Given the description of an element on the screen output the (x, y) to click on. 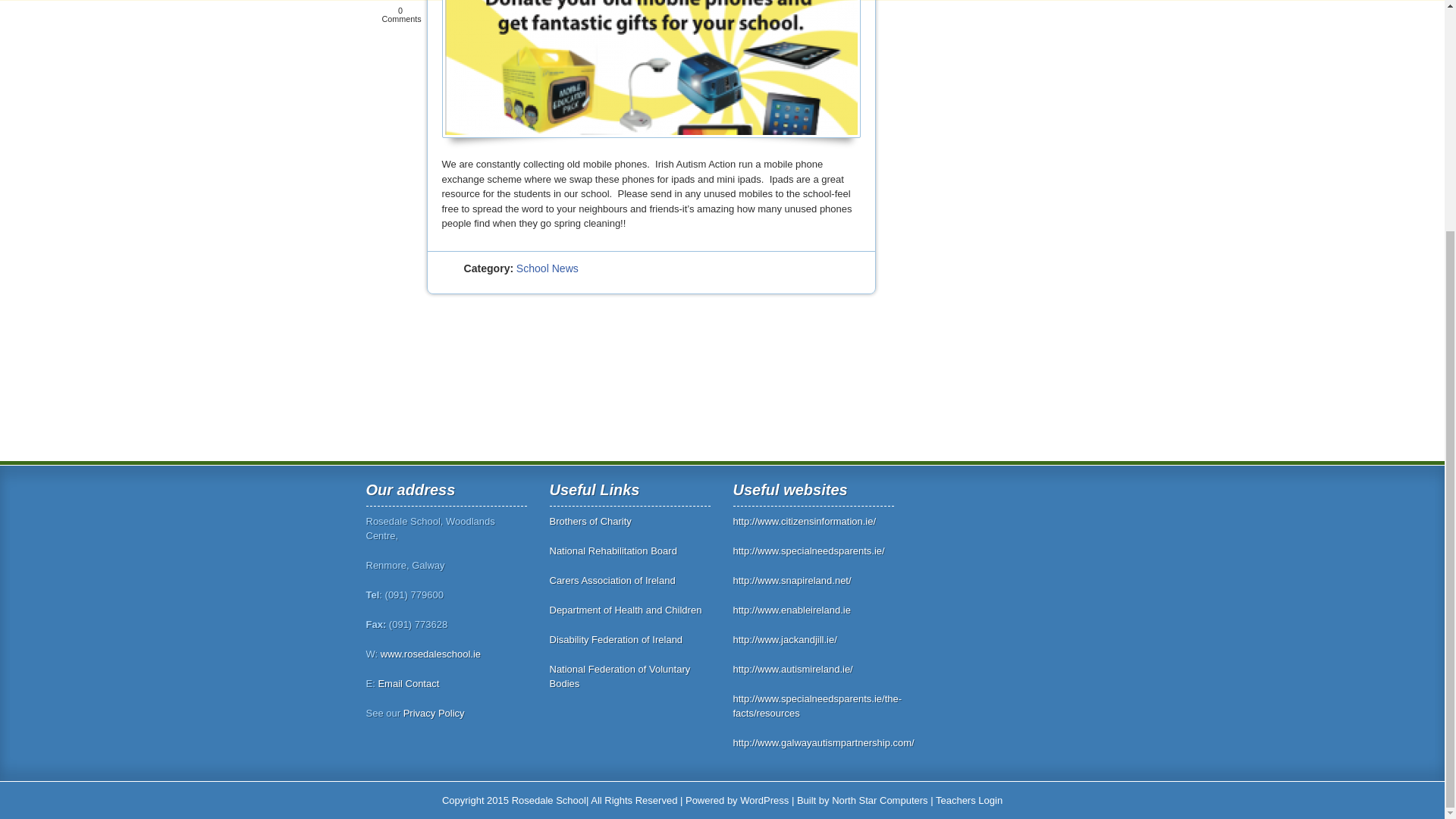
Brothers of Charity (589, 521)
Department of Health and Children (624, 609)
Carers Association of Ireland (611, 580)
Privacy Policy (433, 713)
Jack and Jill Foundation Website (783, 639)
Email Contact (408, 683)
S.N.A.P. Ireland Website (791, 580)
School News (547, 268)
National Rehabilitation Board (612, 550)
